Given the description of an element on the screen output the (x, y) to click on. 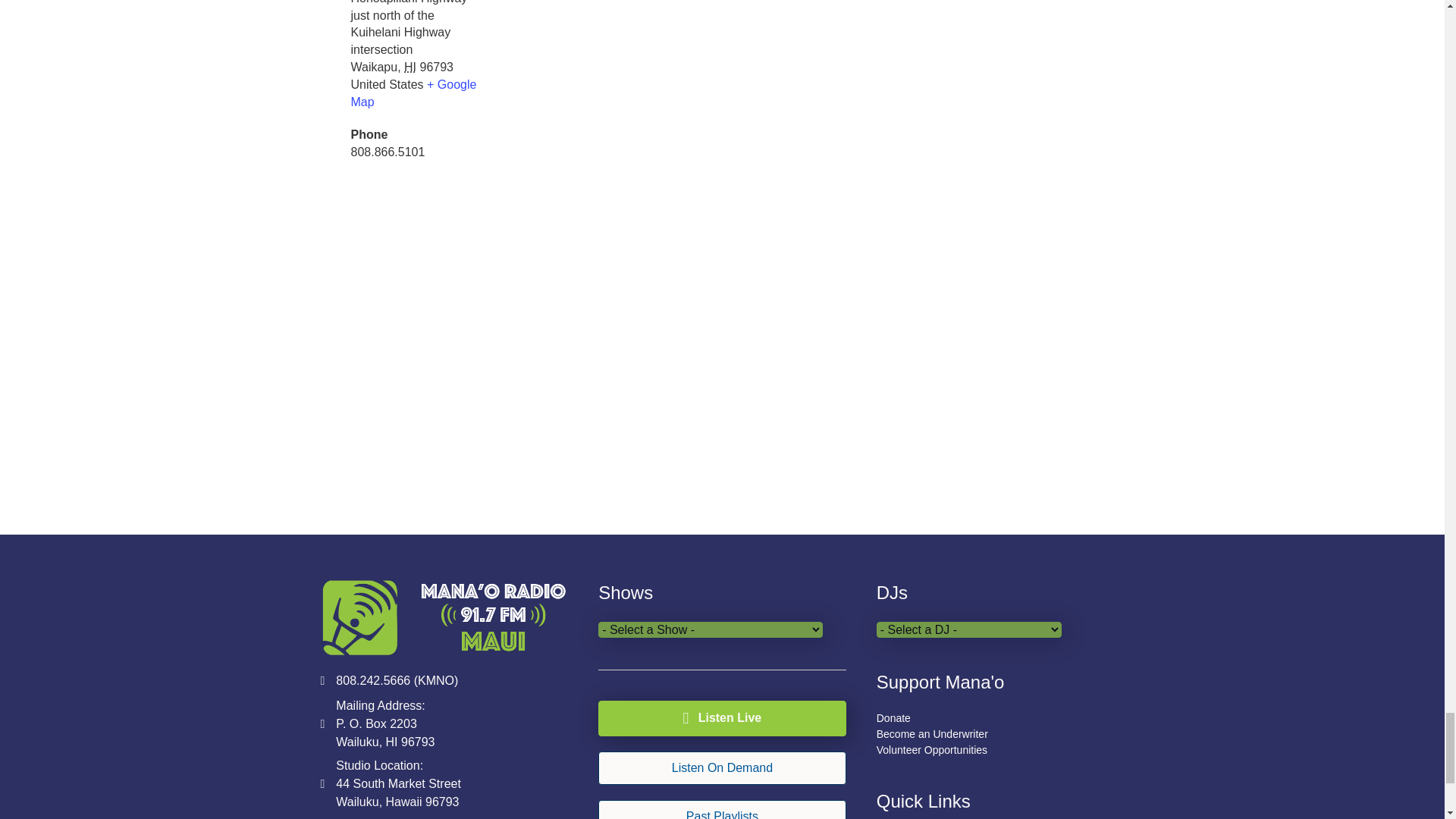
kmno-300x90-logo-master-reverse (443, 617)
Click to view a Google Map (413, 92)
Hawaii (410, 66)
